Given the description of an element on the screen output the (x, y) to click on. 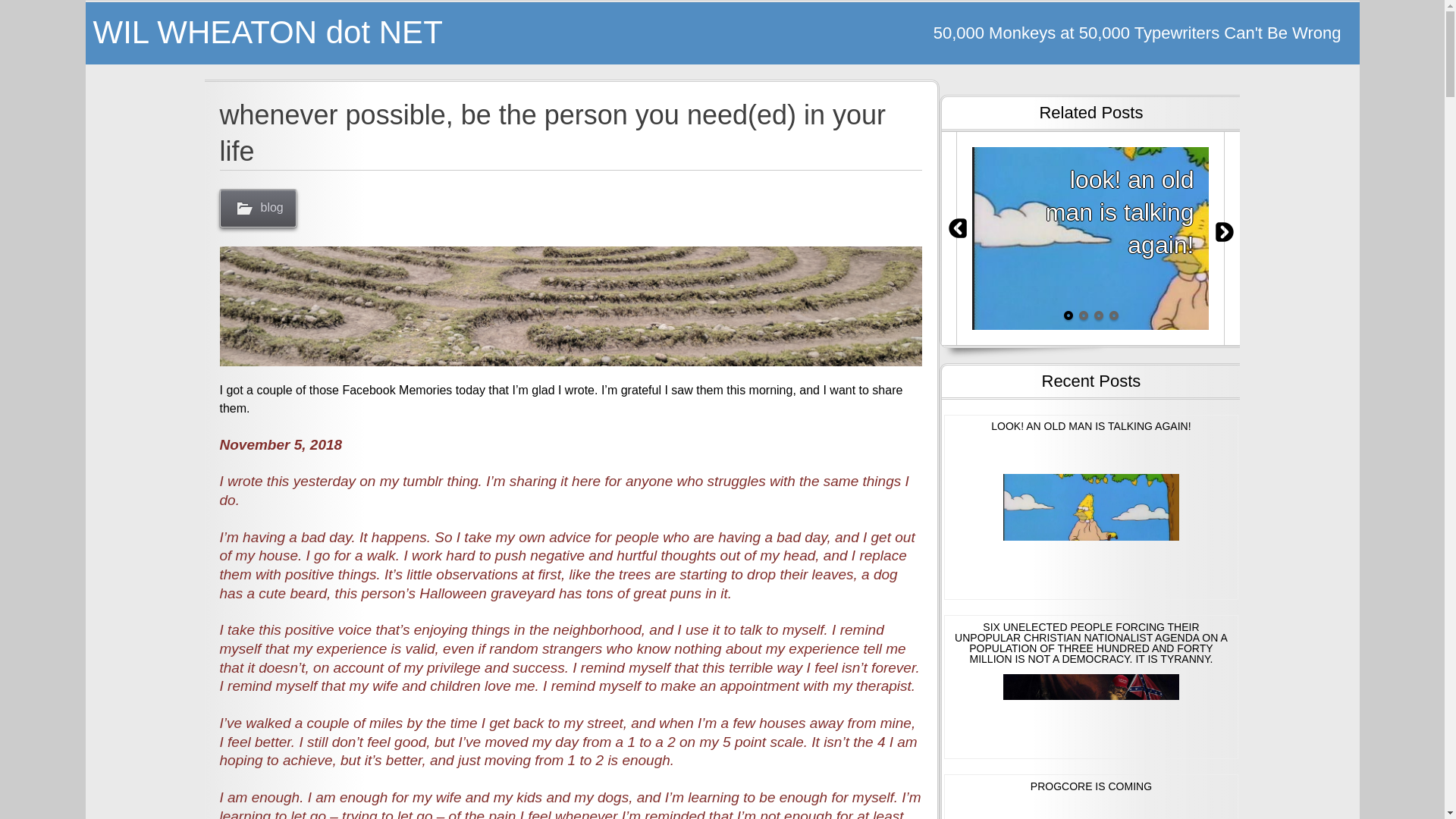
blog (258, 208)
WIL WHEATON dot NET (403, 32)
PROGCORE IS COMING (1090, 796)
Search (38, 13)
look! an old man is talking again! (1090, 238)
LOOK! AN OLD MAN IS TALKING AGAIN! (1090, 506)
